Given the description of an element on the screen output the (x, y) to click on. 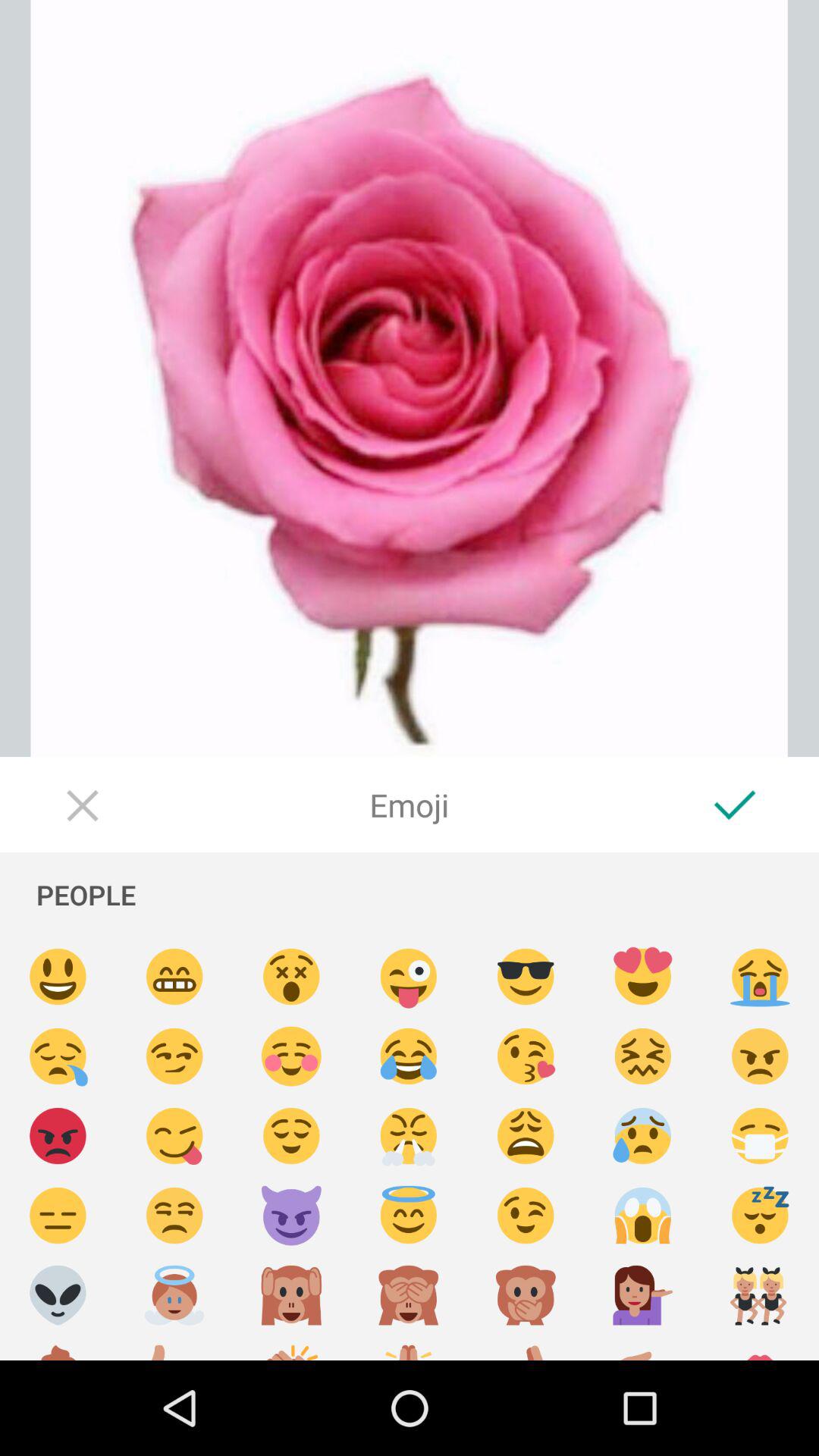
emoji (291, 1136)
